Given the description of an element on the screen output the (x, y) to click on. 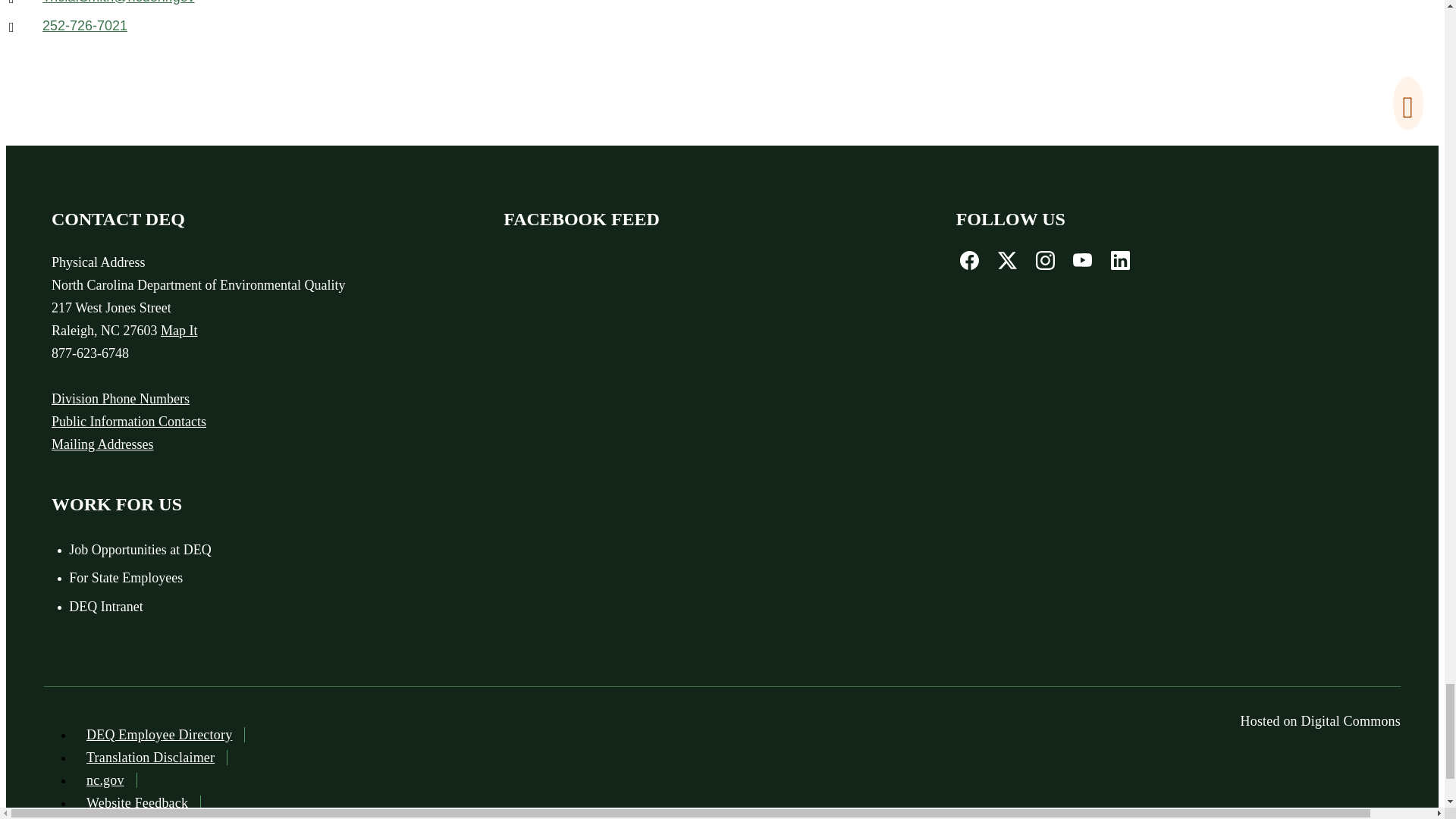
DEQ Intranet (244, 606)
Job Opportunities at DEQ (244, 550)
For State Employees (244, 578)
The State of North Carolina (105, 780)
Website User Feedback Form (137, 802)
